Given the description of an element on the screen output the (x, y) to click on. 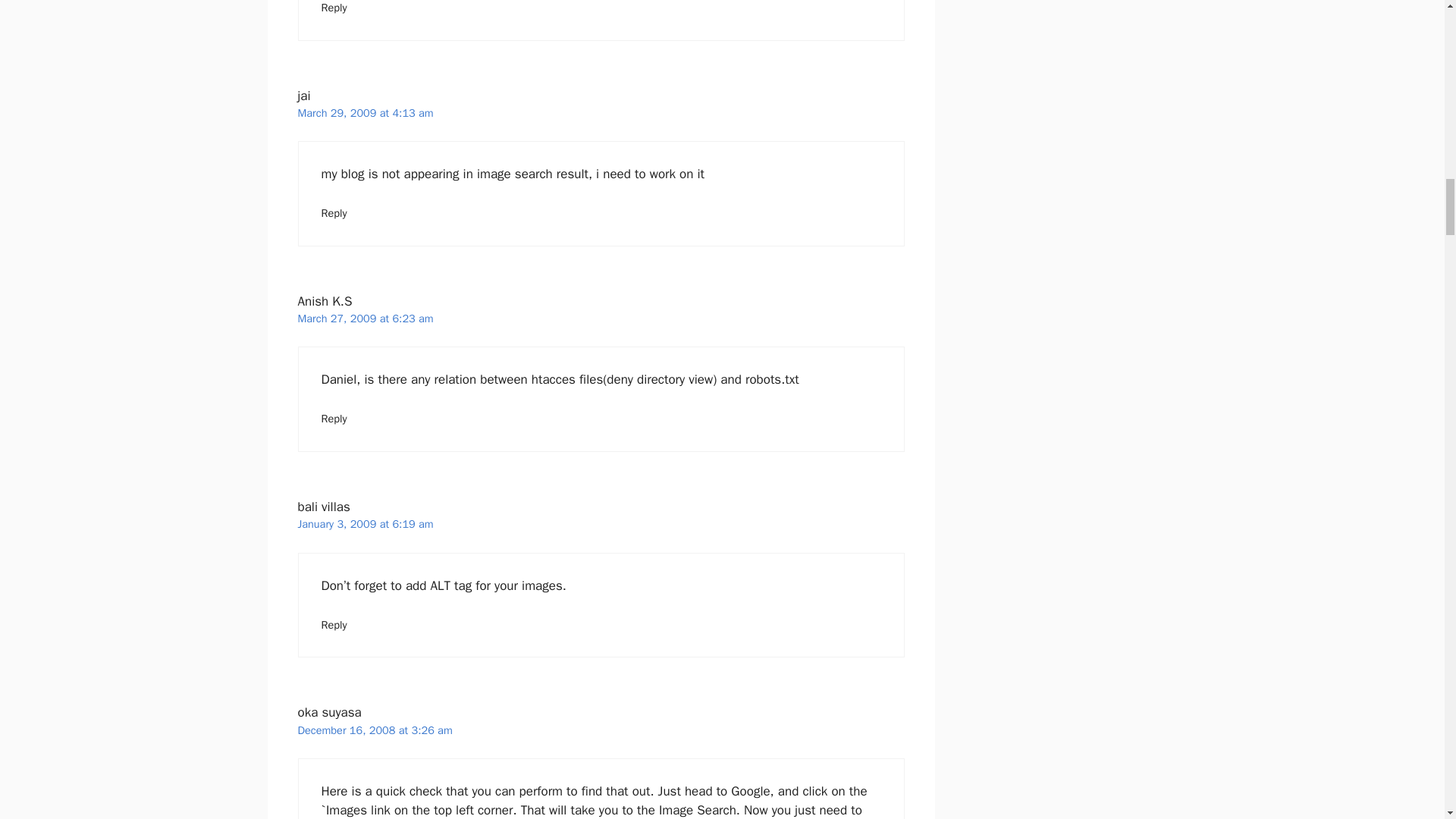
March 29, 2009 at 4:13 am (364, 112)
Reply (334, 7)
